Given the description of an element on the screen output the (x, y) to click on. 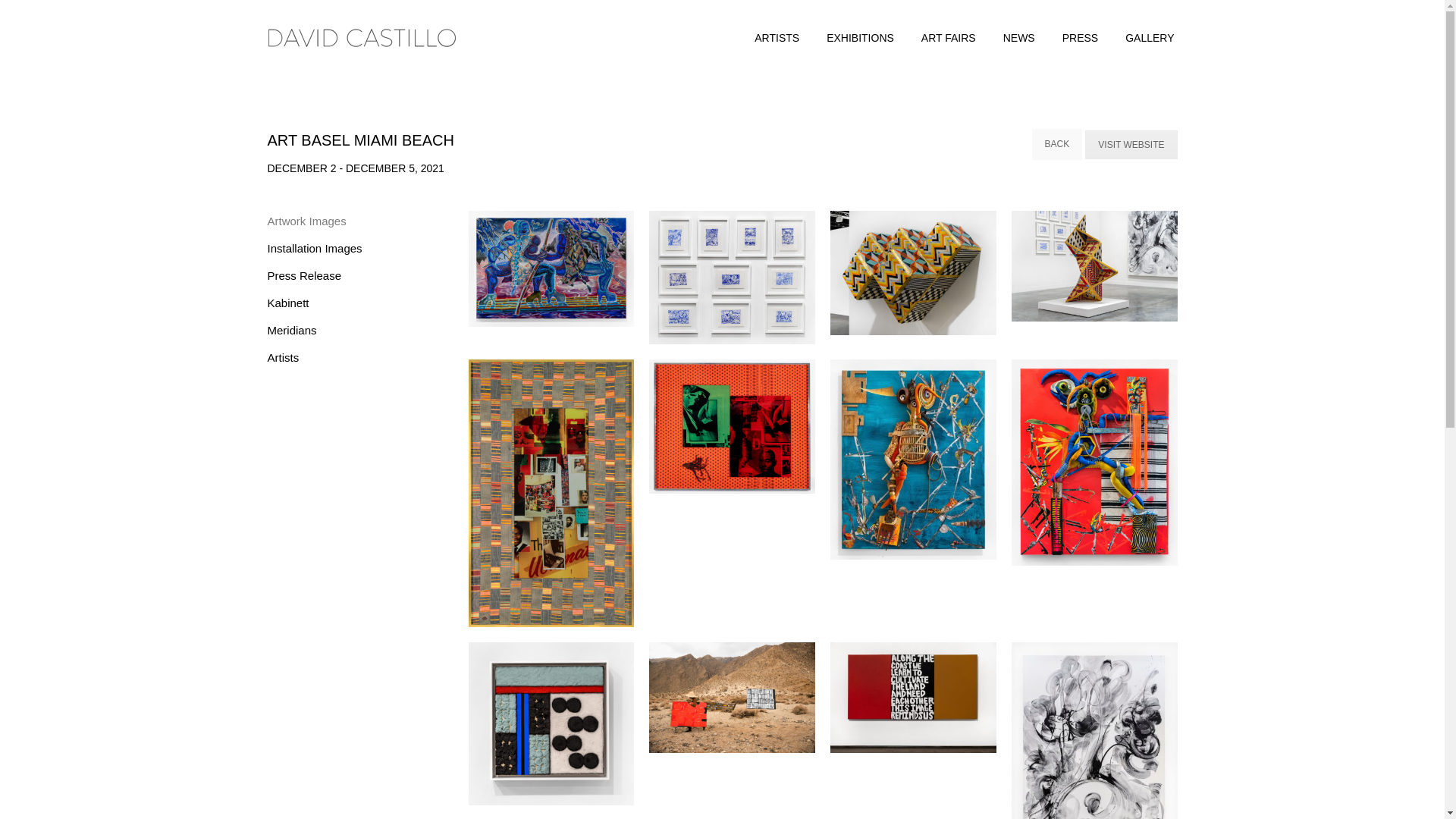
Double Gasper (732, 426)
Back (1055, 143)
Kabinett (293, 305)
ARTISTS (776, 37)
EXHIBITIONS (860, 37)
GALLERY (1149, 37)
ART FAIRS (948, 37)
VISIT WEBSITE (1130, 144)
Press Release (309, 278)
Installation Images (319, 251)
Meridians (296, 333)
Artists (288, 360)
Artwork Images (311, 223)
